Given the description of an element on the screen output the (x, y) to click on. 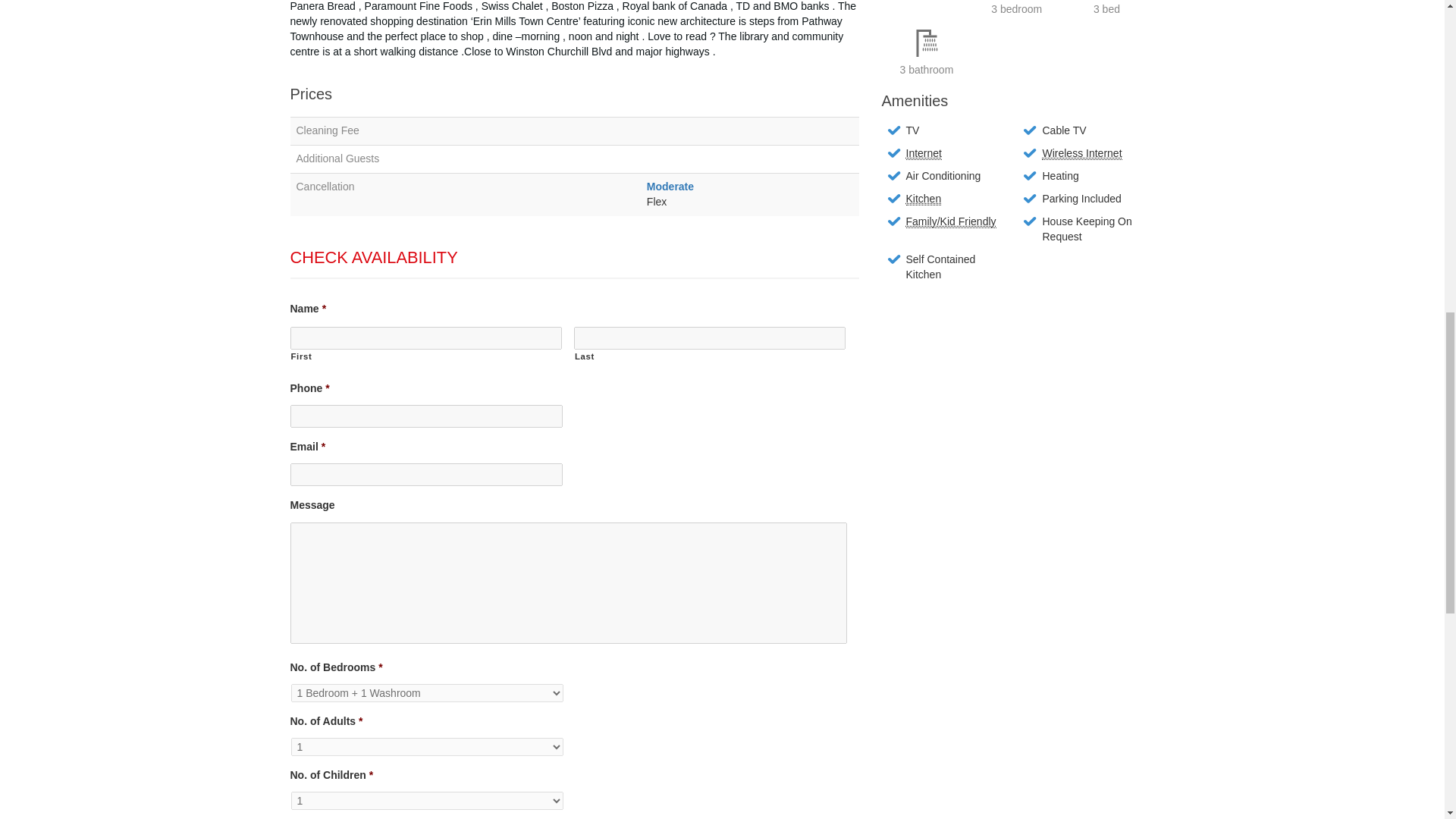
This property is suitable for hosting families with children (950, 221)
Kitchen is available for guests (922, 198)
Moderate (670, 186)
